Given the description of an element on the screen output the (x, y) to click on. 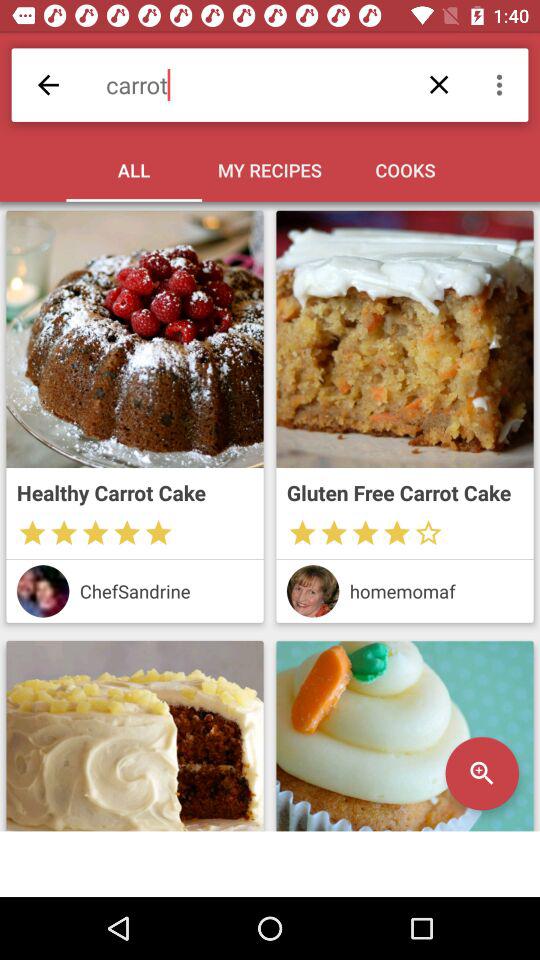
open carrot cake recipe (404, 339)
